Given the description of an element on the screen output the (x, y) to click on. 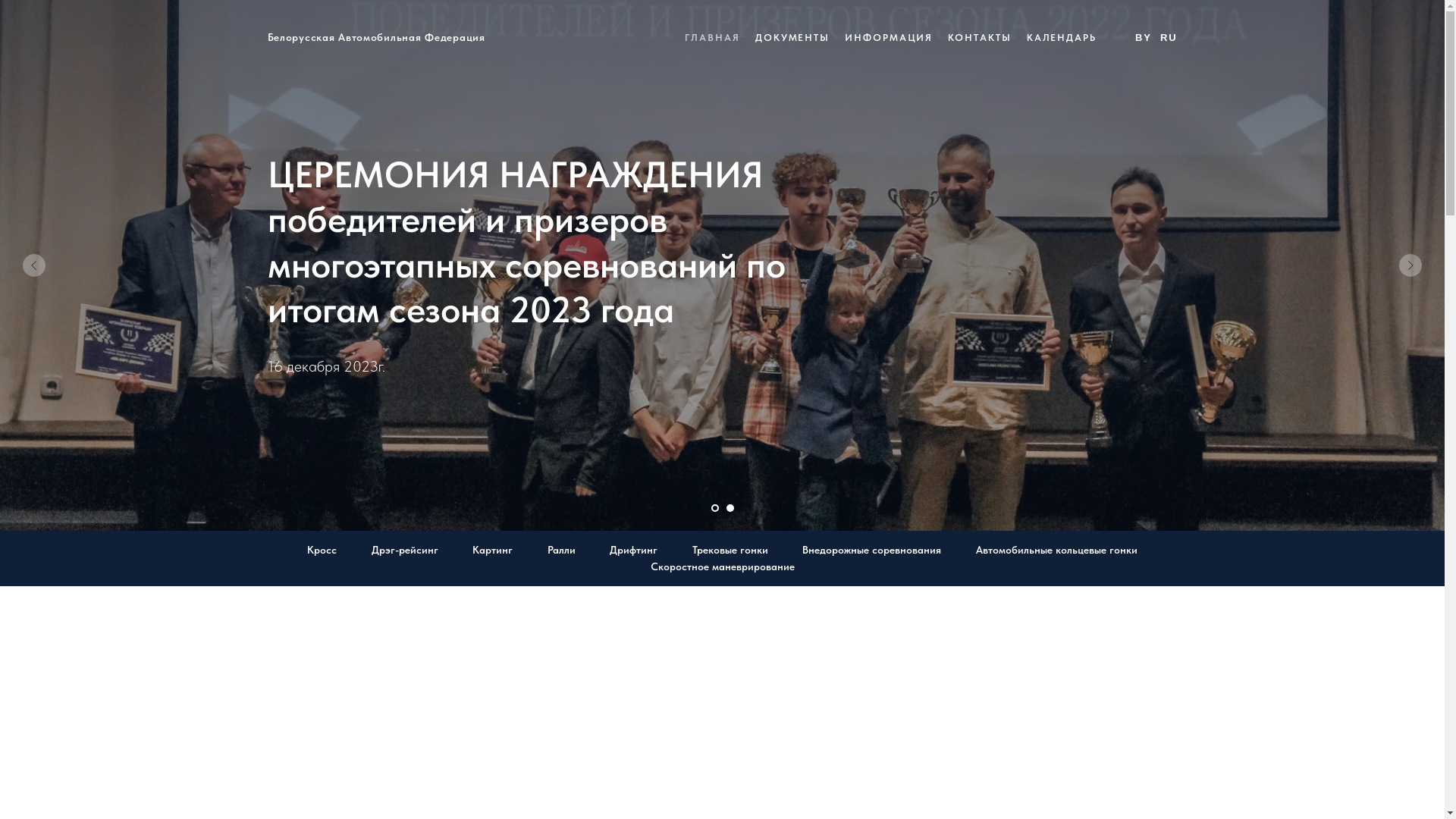
RU Element type: text (1168, 37)
BY Element type: text (1143, 37)
